Given the description of an element on the screen output the (x, y) to click on. 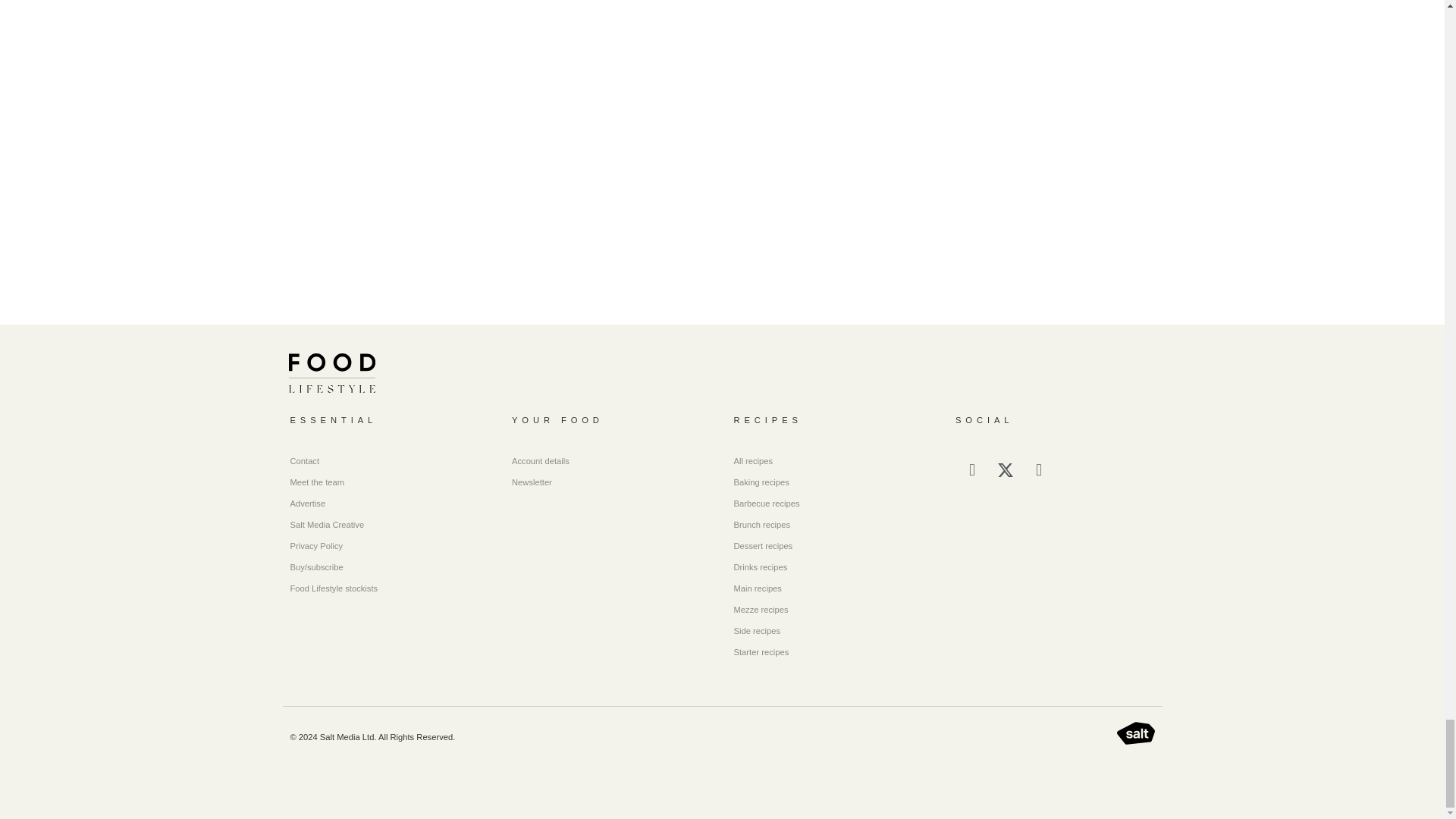
Account details (611, 460)
All recipes (833, 460)
Baking recipes (833, 482)
Salt Media Creative (389, 524)
Privacy Policy (389, 545)
Meet the team (389, 482)
Contact (389, 460)
Newsletter (611, 482)
Advertise (389, 503)
